Given the description of an element on the screen output the (x, y) to click on. 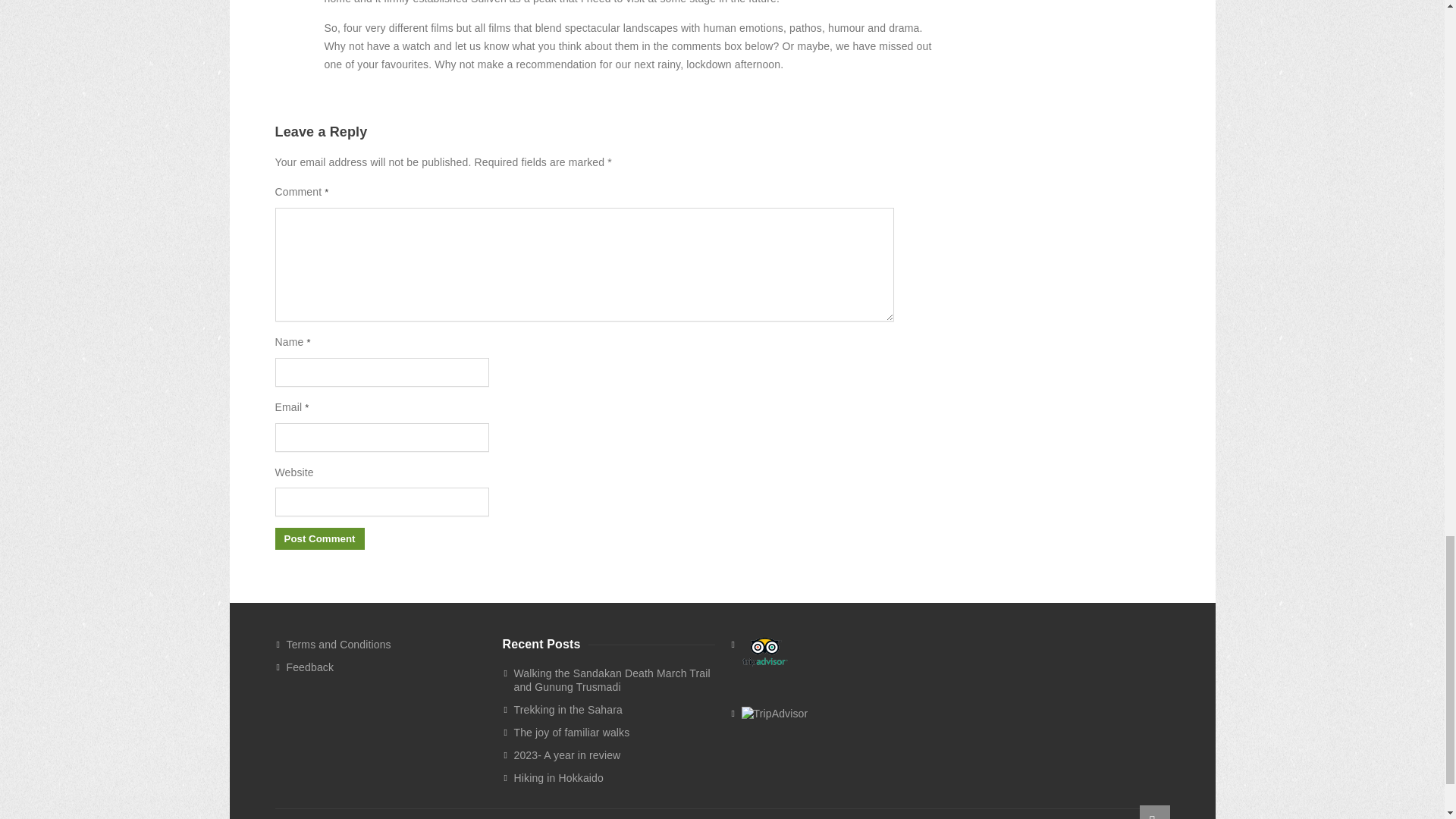
Walking the Sandakan Death March Trail and Gunung Trusmadi (613, 680)
2023- A year in review (613, 755)
Feedback (386, 667)
Post Comment (319, 538)
Hiking in Hokkaido (613, 778)
Terms and Conditions (386, 644)
The joy of familiar walks (613, 732)
Post Comment (319, 538)
Trekking in the Sahara (613, 710)
